Given the description of an element on the screen output the (x, y) to click on. 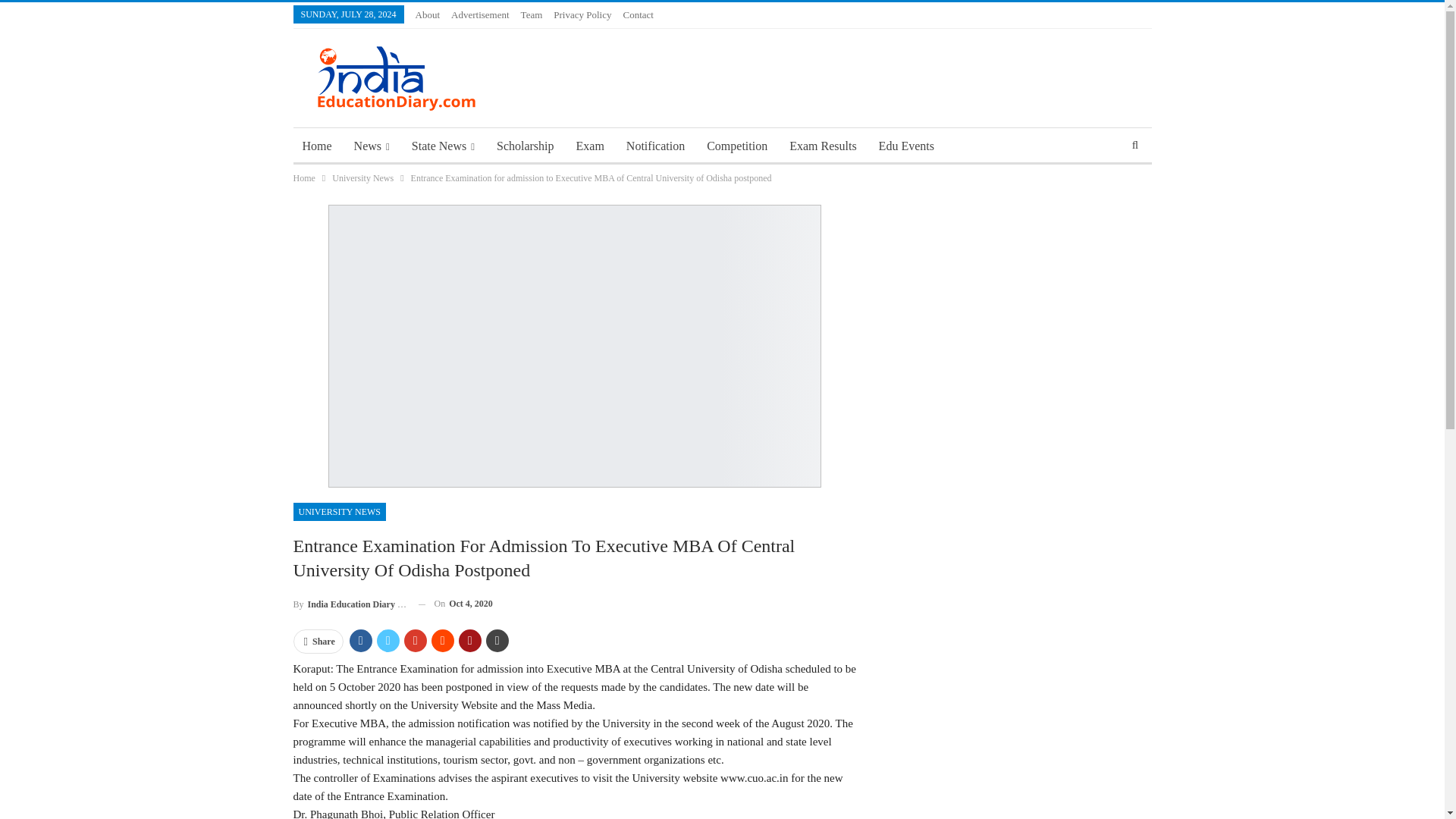
State News (443, 145)
Browse Author Articles (349, 603)
Privacy Policy (582, 14)
Team (532, 14)
News (371, 145)
Home (316, 145)
About (427, 14)
Advertisement (480, 14)
Contact (637, 14)
